Given the description of an element on the screen output the (x, y) to click on. 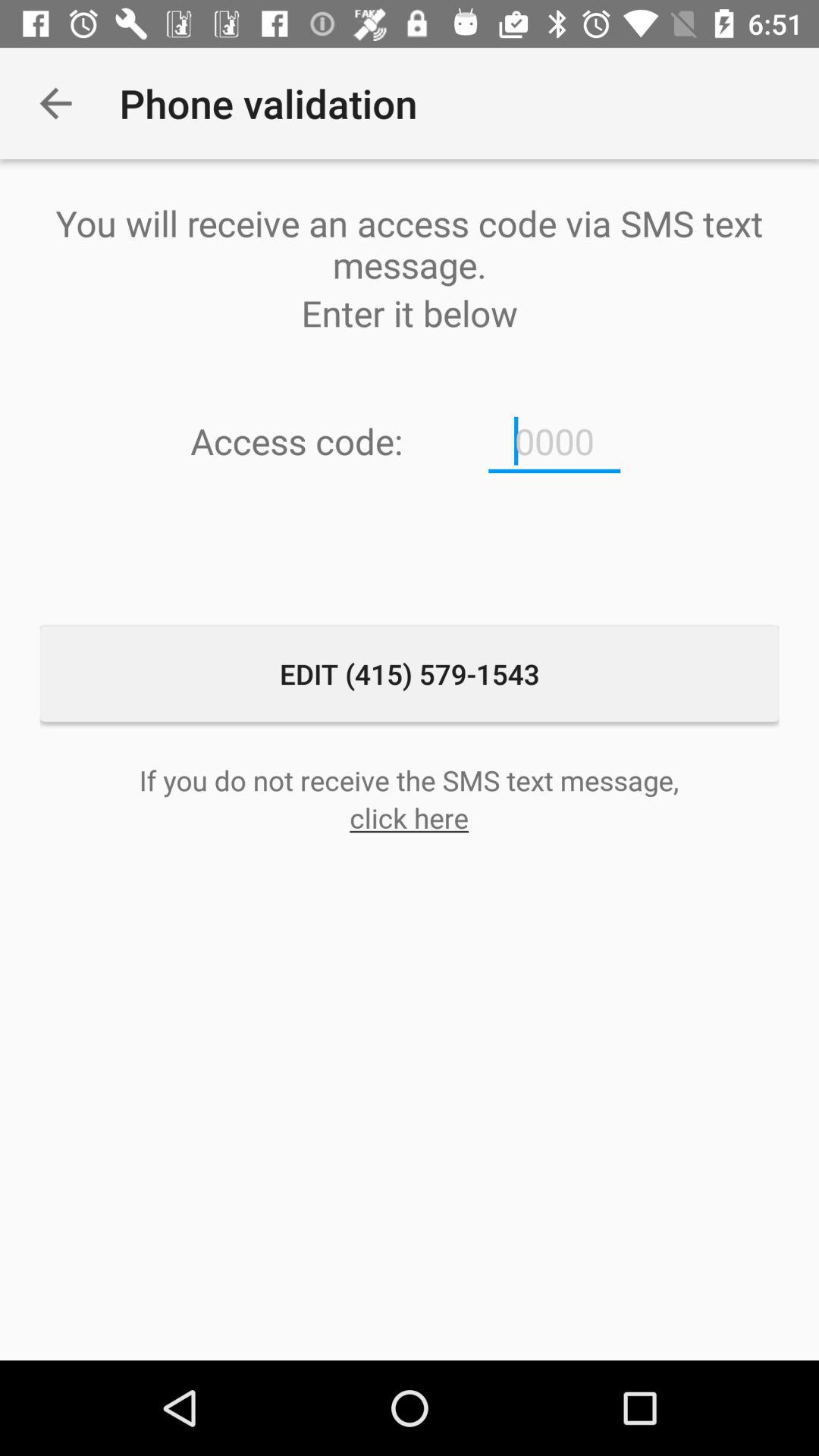
select icon below the if you do (408, 817)
